Given the description of an element on the screen output the (x, y) to click on. 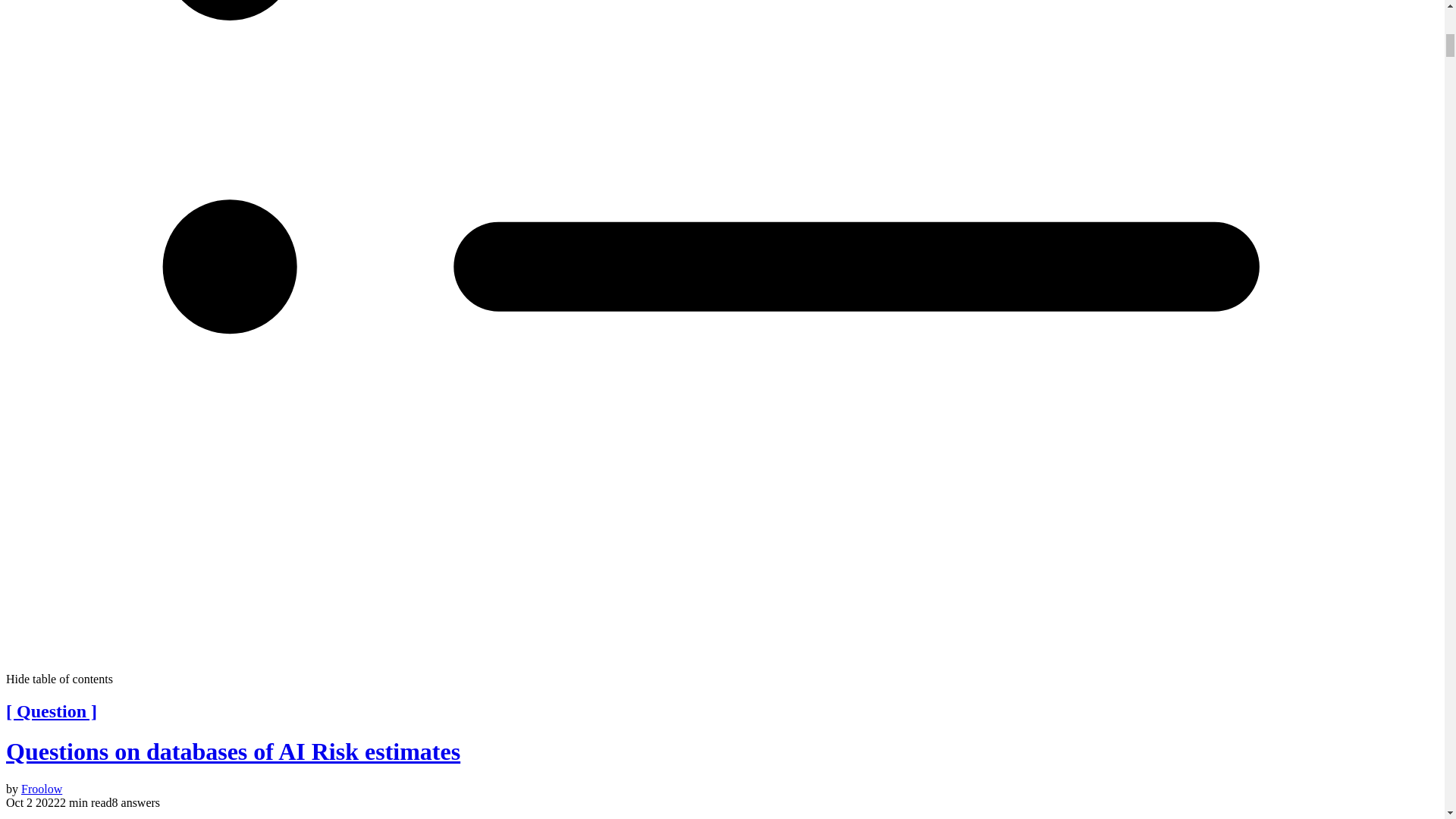
8 answers (136, 802)
Froolow (41, 788)
Questions on databases of AI Risk estimates (232, 750)
